Given the description of an element on the screen output the (x, y) to click on. 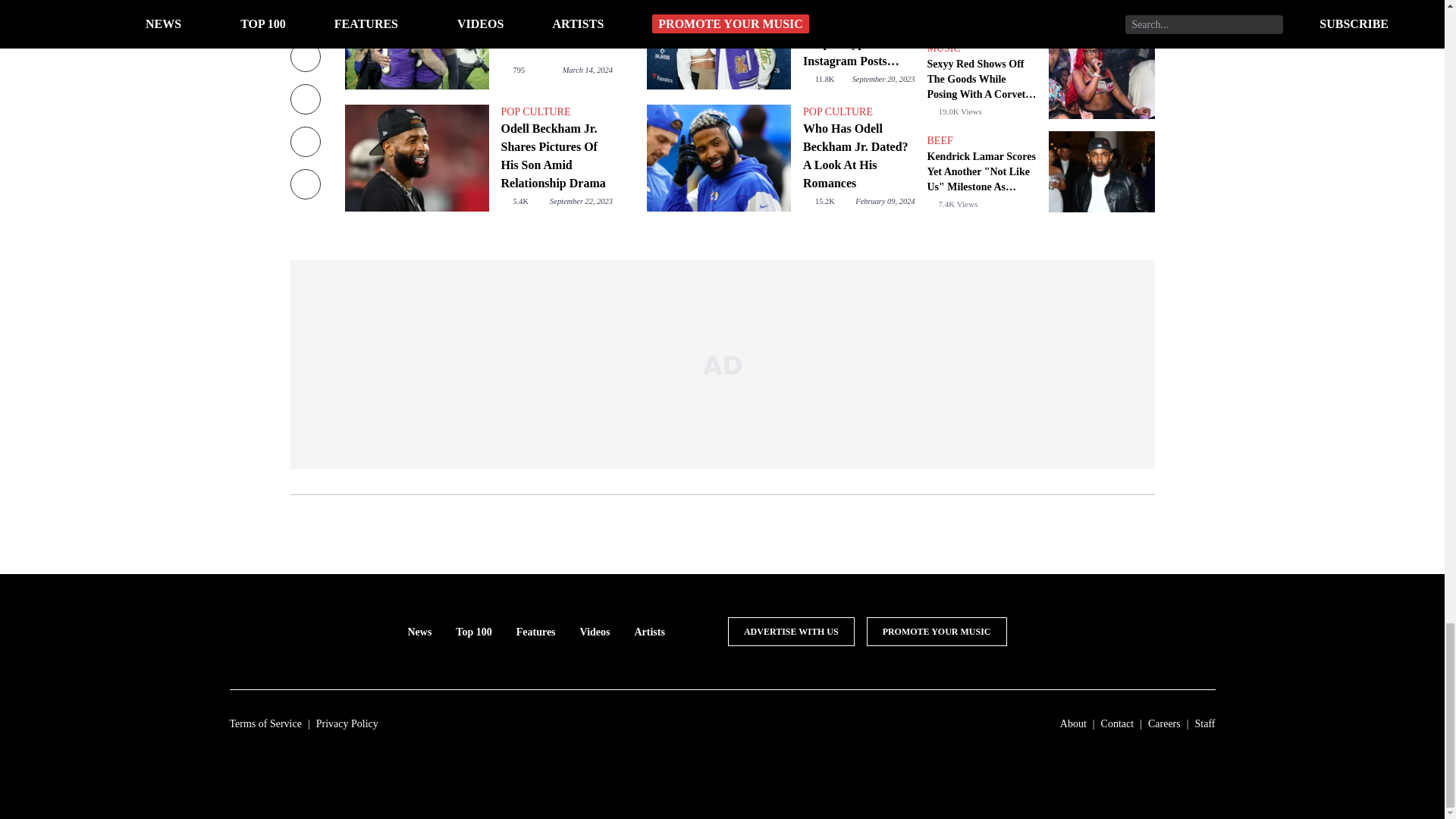
February 09, 2024 (885, 201)
Who Has Odell Beckham Jr. Dated? A Look At His Romances (858, 155)
September 20, 2023 (883, 79)
September 22, 2023 (581, 201)
Odell Beckham Jr To Be Released By The Ravens (555, 26)
Who Has Odell Beckham Jr. Dated? A Look At His Romances (718, 157)
